Given the description of an element on the screen output the (x, y) to click on. 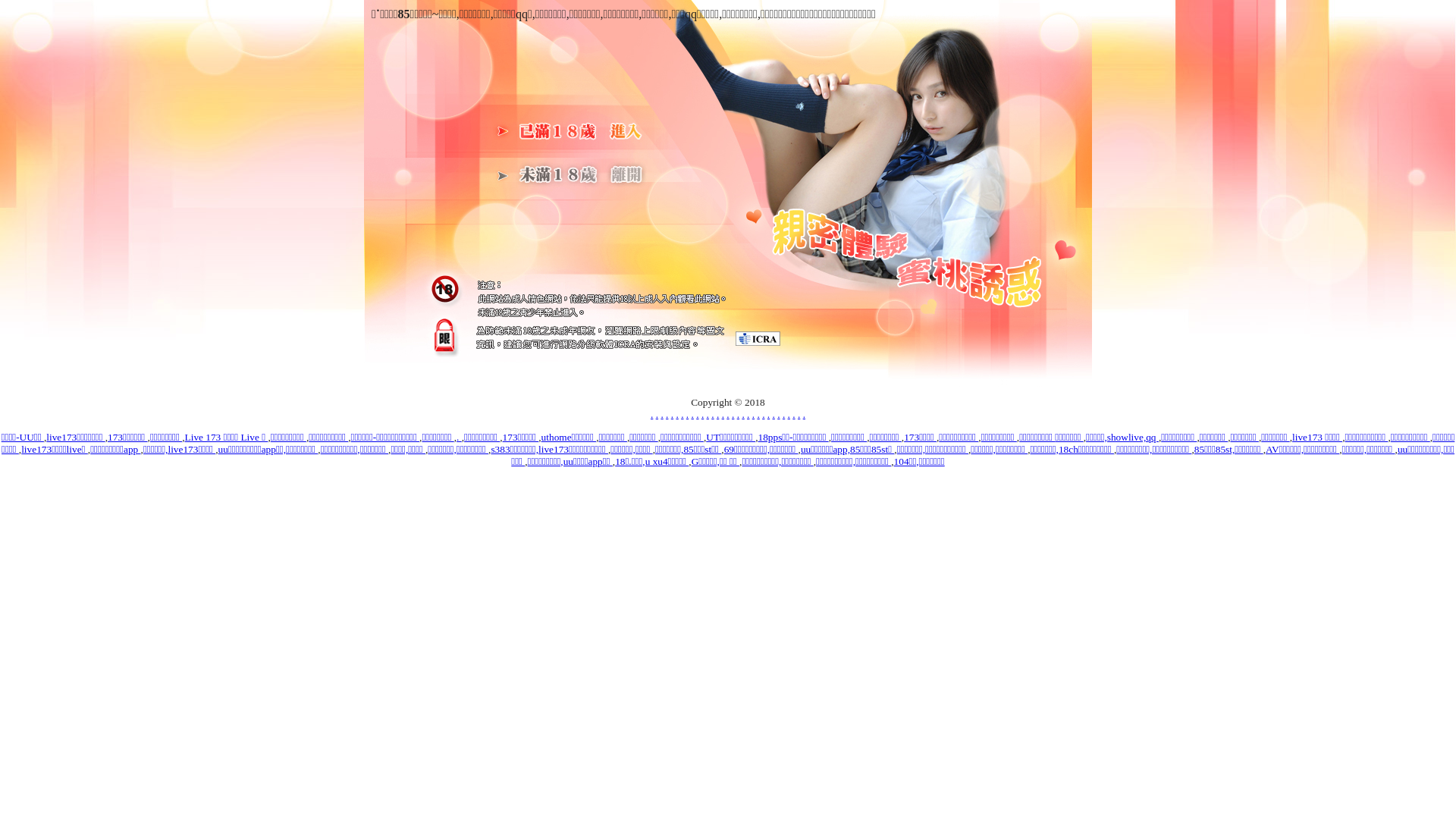
. Element type: text (712, 414)
. Element type: text (778, 414)
. Element type: text (722, 414)
. Element type: text (651, 414)
. Element type: text (656, 414)
. Element type: text (763, 414)
. Element type: text (742, 414)
. Element type: text (676, 414)
. Element type: text (747, 414)
. Element type: text (666, 414)
. Element type: text (727, 414)
. Element type: text (804, 414)
. Element type: text (753, 414)
. Element type: text (768, 414)
. Element type: text (681, 414)
. Element type: text (661, 414)
. Element type: text (773, 414)
. Element type: text (738, 414)
. Element type: text (702, 414)
. Element type: text (458, 436)
. Element type: text (707, 414)
. Element type: text (732, 414)
. Element type: text (793, 414)
. Element type: text (692, 414)
. Element type: text (717, 414)
. Element type: text (798, 414)
. Element type: text (672, 414)
. Element type: text (783, 414)
. Element type: text (697, 414)
. Element type: text (687, 414)
. Element type: text (757, 414)
. Element type: text (788, 414)
